Given the description of an element on the screen output the (x, y) to click on. 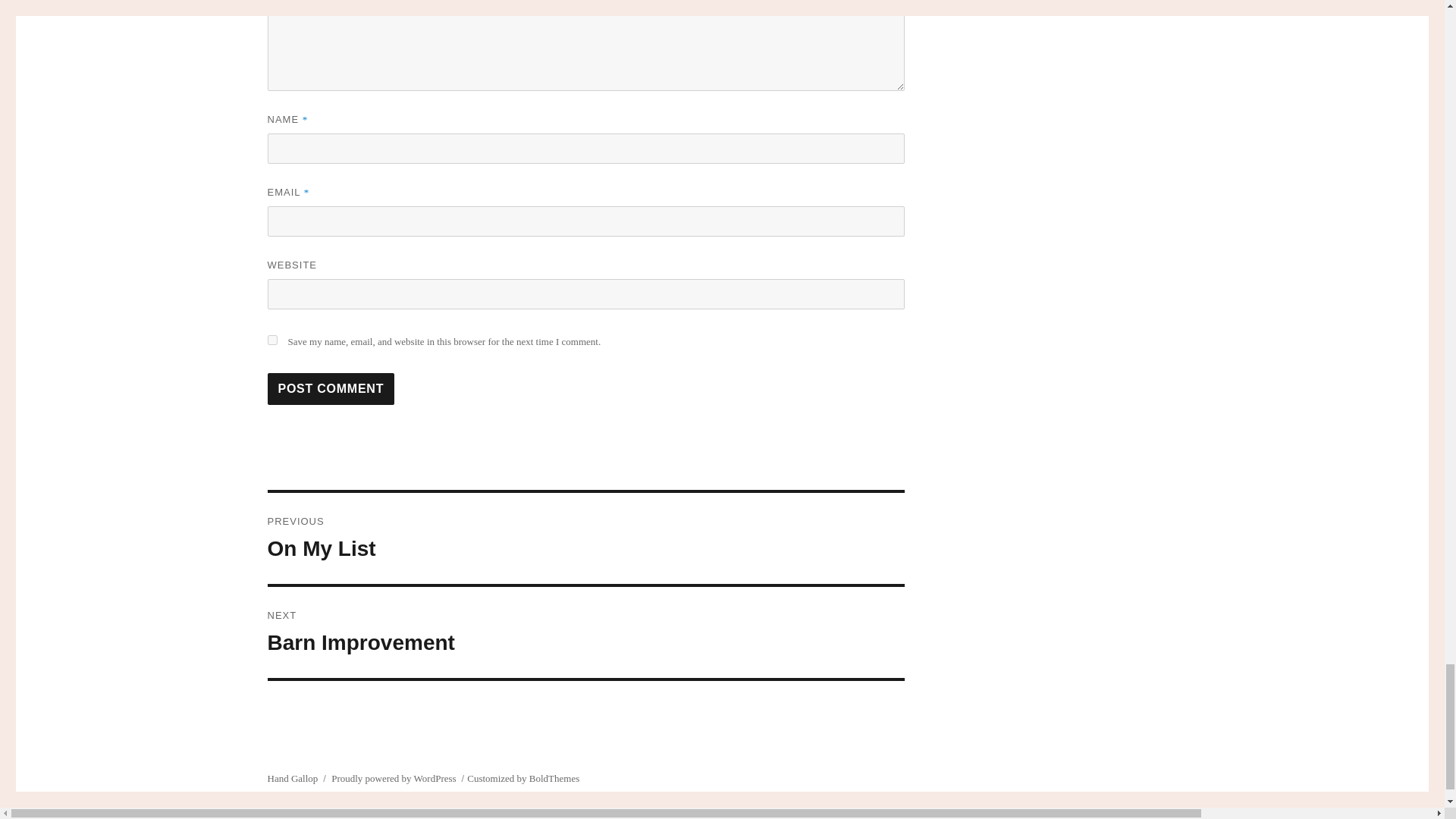
yes (271, 339)
Post Comment (330, 388)
Customized by BoldThemes (523, 778)
Post Comment (585, 538)
